Given the description of an element on the screen output the (x, y) to click on. 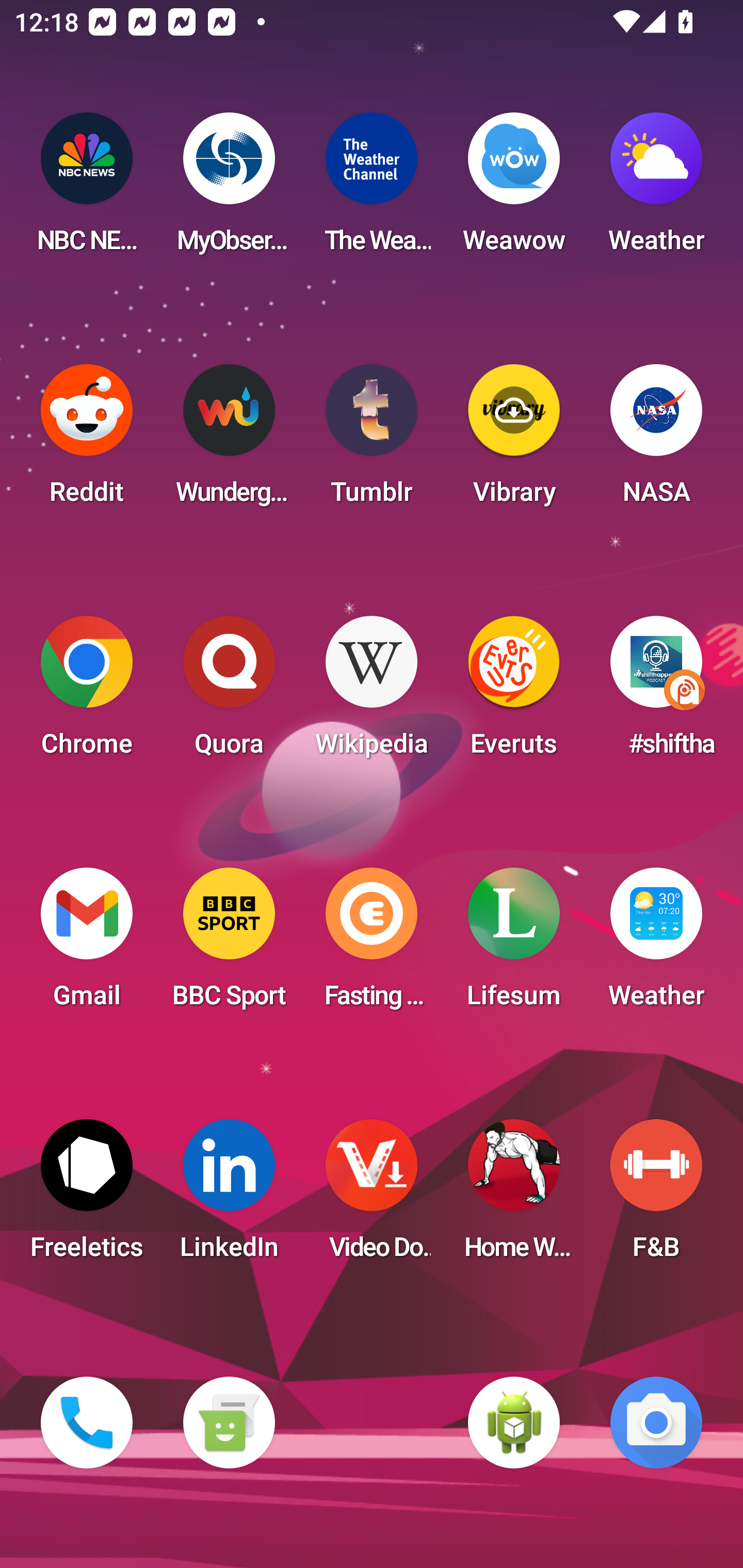
NBC NEWS (86, 188)
MyObservatory (228, 188)
The Weather Channel (371, 188)
Weawow (513, 188)
Weather (656, 188)
Reddit (86, 440)
Wunderground (228, 440)
Tumblr (371, 440)
Vibrary (513, 440)
NASA (656, 440)
Chrome (86, 692)
Quora (228, 692)
Wikipedia (371, 692)
Everuts (513, 692)
#shifthappens in the Digital Workplace Podcast (656, 692)
Gmail (86, 943)
BBC Sport (228, 943)
Fasting Coach (371, 943)
Lifesum (513, 943)
Weather (656, 943)
Freeletics (86, 1195)
LinkedIn (228, 1195)
Video Downloader & Ace Player (371, 1195)
Home Workout (513, 1195)
F&B (656, 1195)
Phone (86, 1422)
Messaging (228, 1422)
WebView Browser Tester (513, 1422)
Camera (656, 1422)
